Given the description of an element on the screen output the (x, y) to click on. 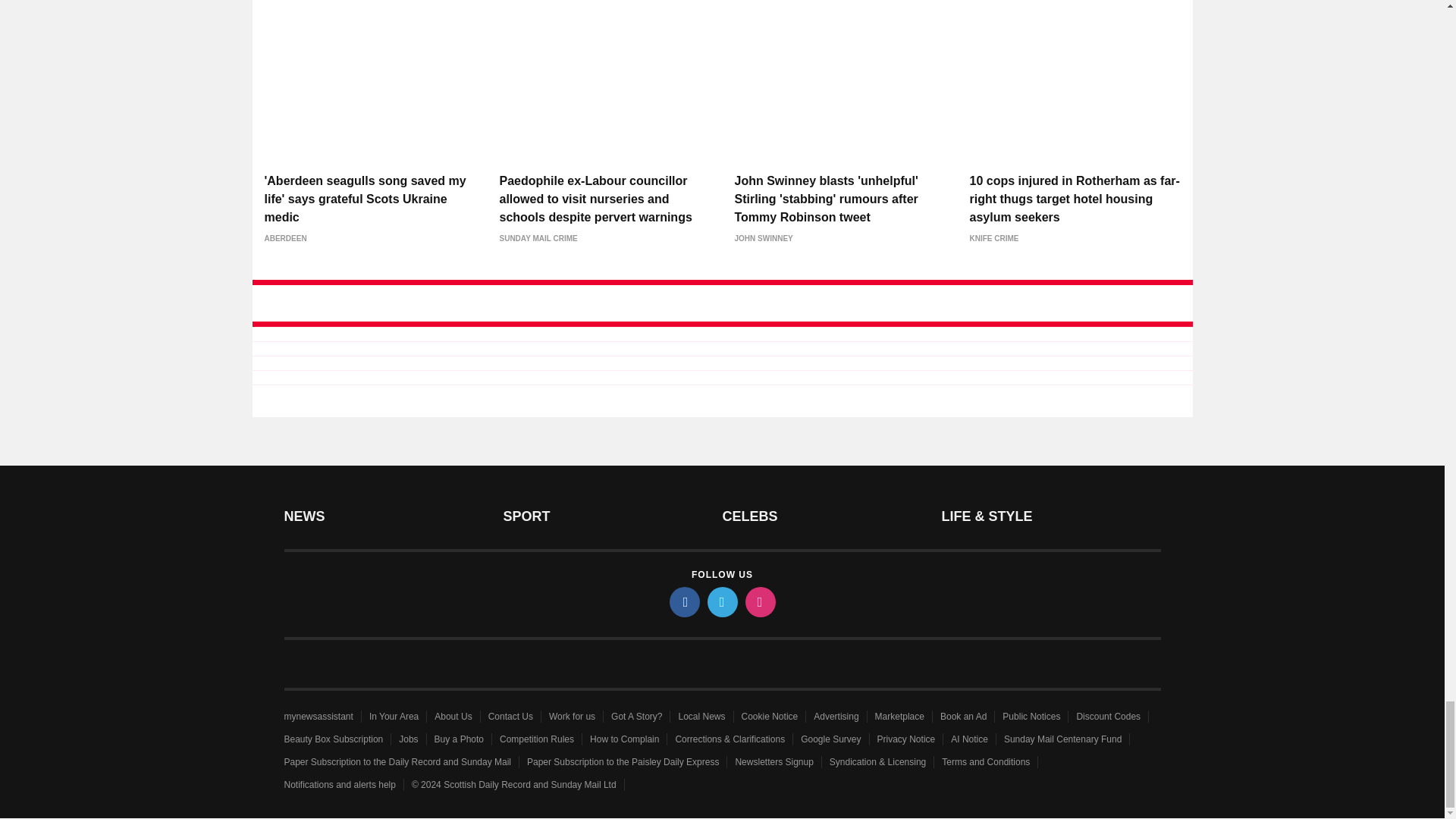
facebook (683, 602)
twitter (721, 602)
instagram (759, 602)
